Given the description of an element on the screen output the (x, y) to click on. 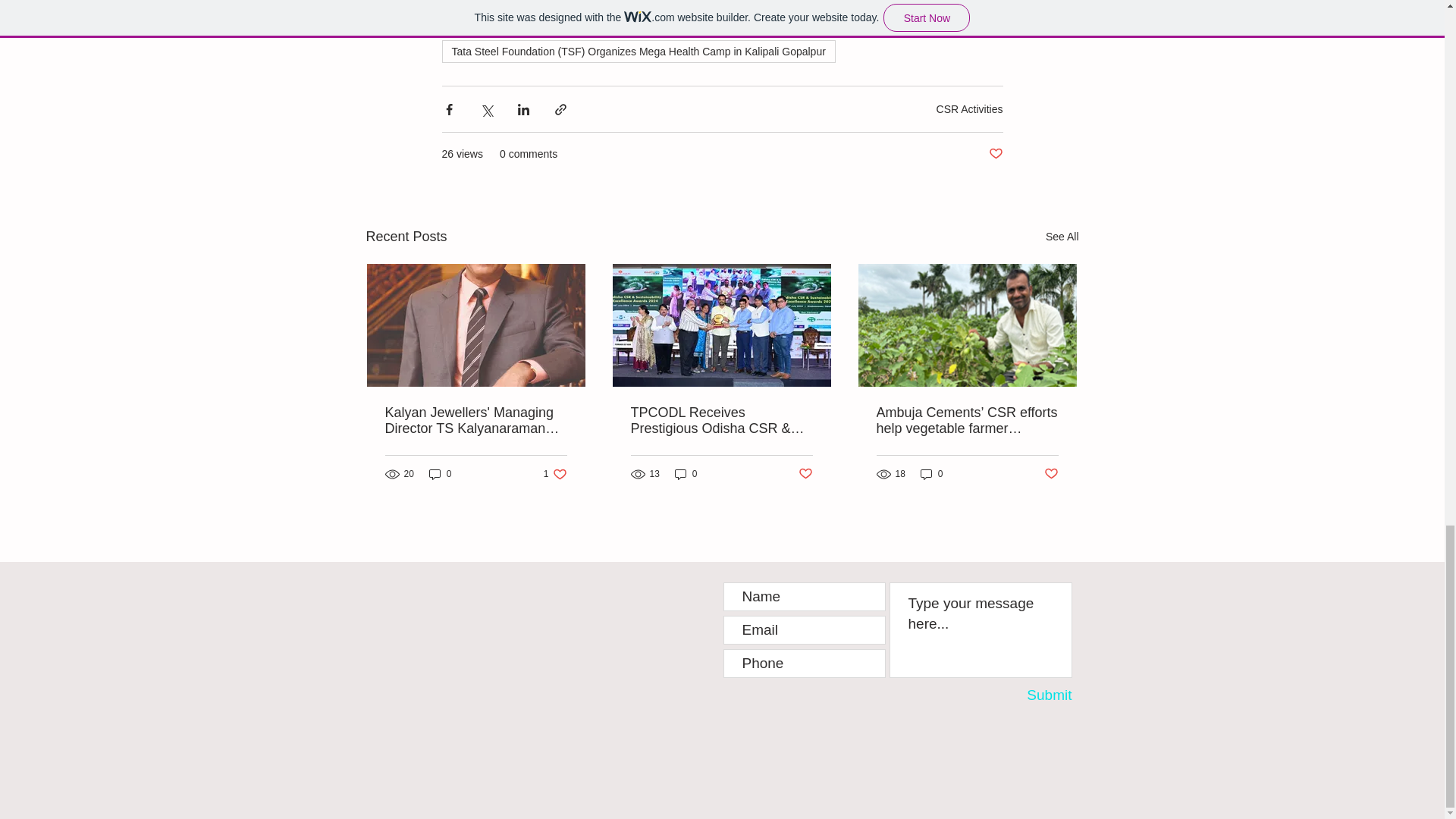
Post not marked as liked (804, 473)
Submit (1029, 695)
0 (440, 473)
0 (931, 473)
See All (1061, 237)
Post not marked as liked (555, 473)
Post not marked as liked (1050, 473)
0 (995, 154)
CSR Activities (685, 473)
